Given the description of an element on the screen output the (x, y) to click on. 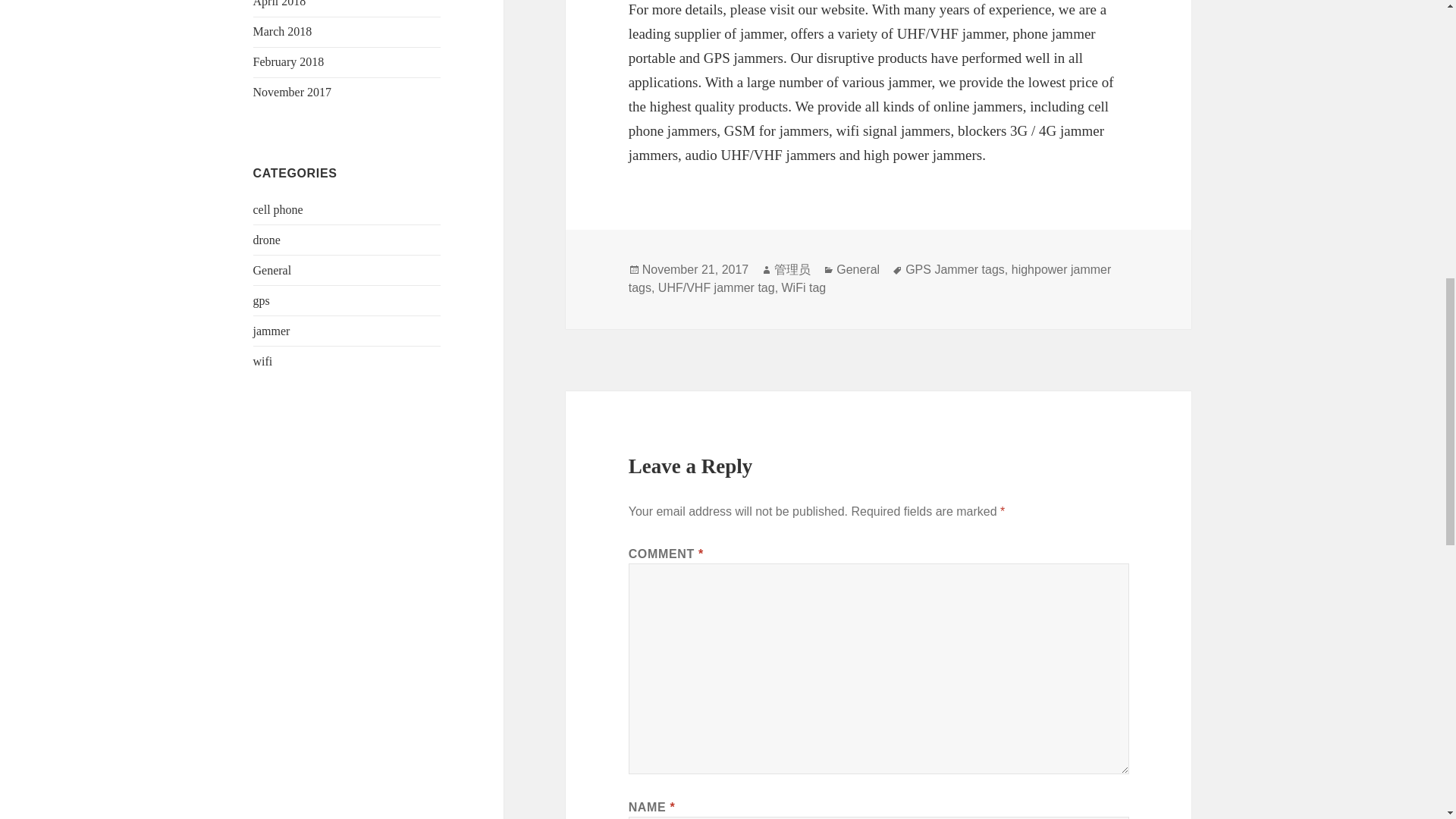
November 21, 2017 (695, 269)
cell phone (277, 209)
drone (267, 239)
March 2018 (283, 31)
November 2017 (292, 91)
gps (261, 300)
General (857, 269)
February 2018 (288, 61)
General (272, 269)
wifi (263, 360)
April 2018 (279, 3)
jammer (271, 330)
WiFi tag (804, 287)
GPS Jammer tags (954, 269)
highpower jammer tags (870, 278)
